Given the description of an element on the screen output the (x, y) to click on. 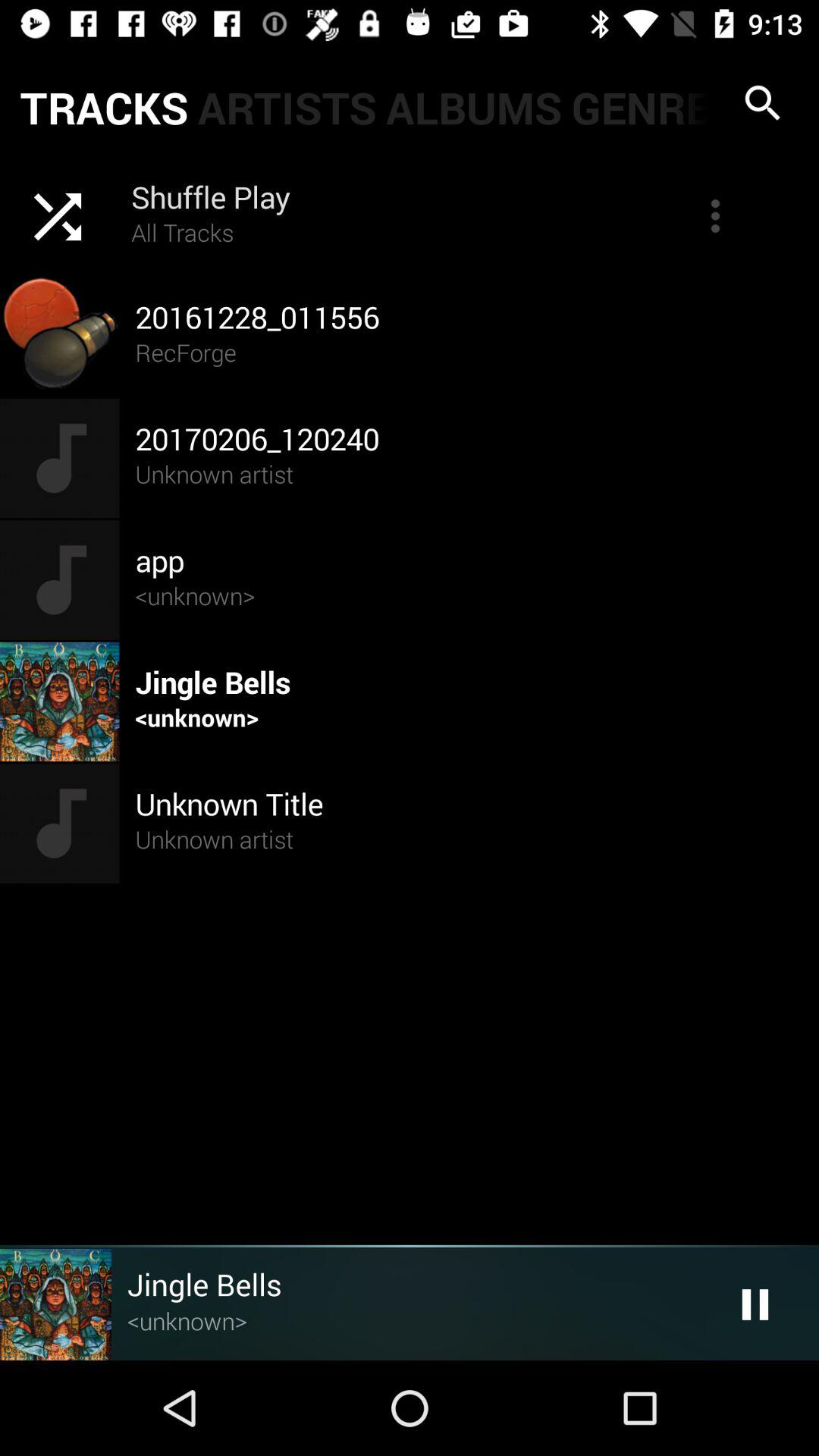
click to search icon (763, 103)
